Given the description of an element on the screen output the (x, y) to click on. 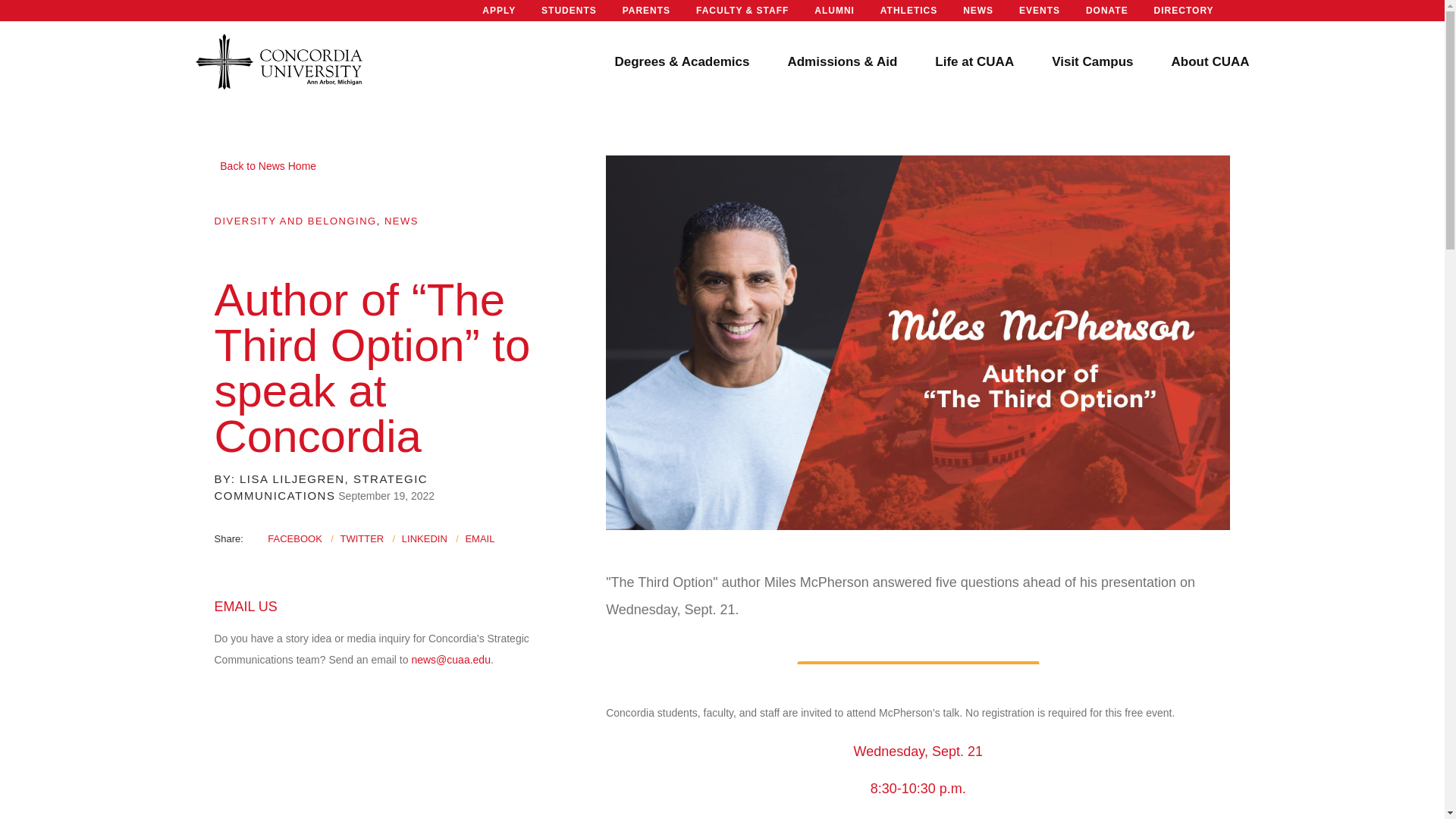
NEWS (977, 10)
DIRECTORY (1184, 10)
NEWS (401, 220)
  Back to News Home (264, 165)
ATHLETICS (908, 10)
ALUMNI (833, 10)
FACEBOOK (294, 538)
STUDENTS (568, 10)
BY: LISA LILJEGREN, STRATEGIC COMMUNICATIONS (321, 487)
LINKEDIN (423, 538)
About CUAA (1210, 61)
TWITTER (361, 538)
EMAIL (479, 538)
EVENTS (1039, 10)
Visit Campus (1091, 61)
